Given the description of an element on the screen output the (x, y) to click on. 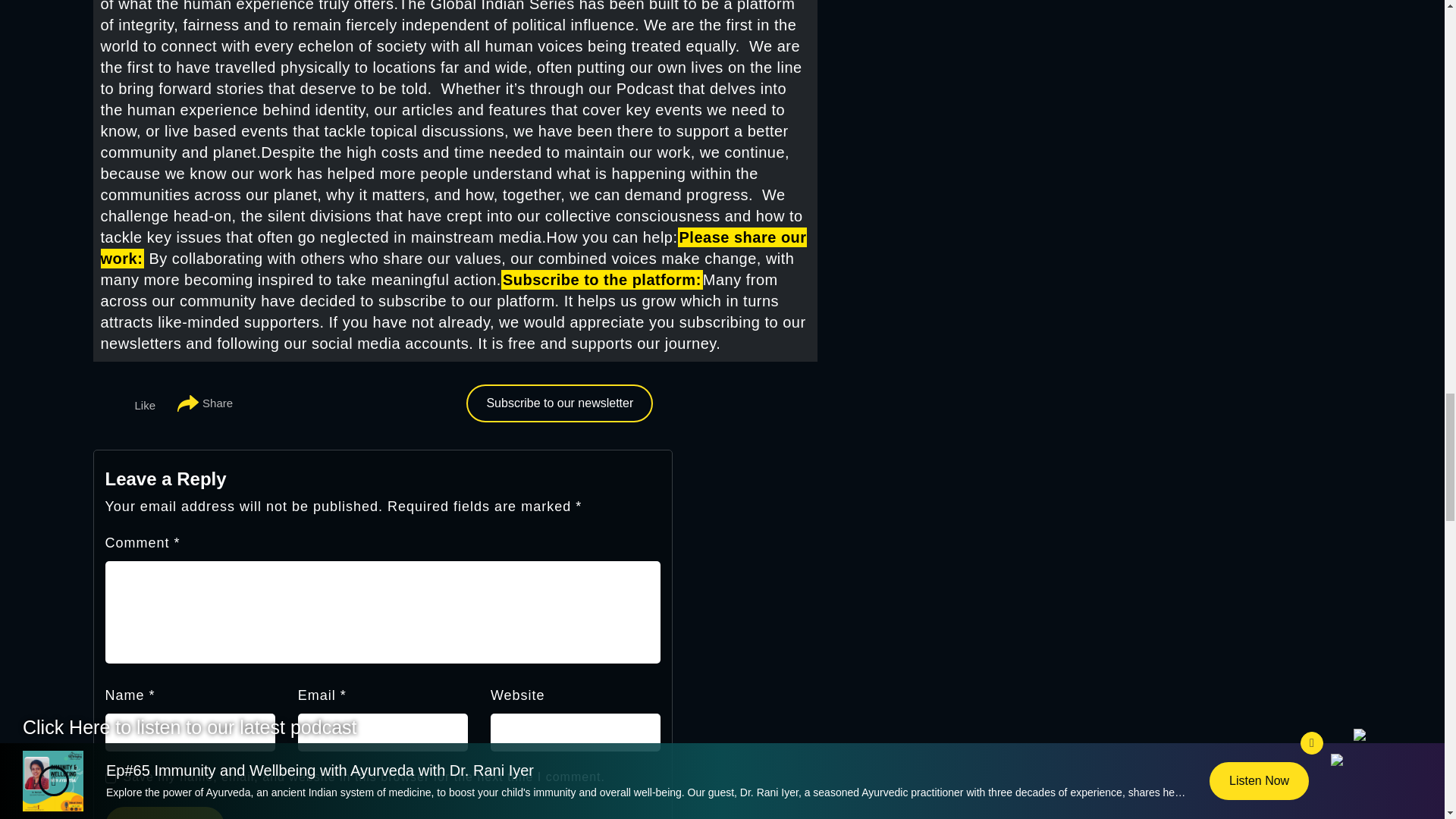
Subscribe to our newsletter (558, 403)
Post Comment (164, 812)
Post Comment (164, 812)
